Given the description of an element on the screen output the (x, y) to click on. 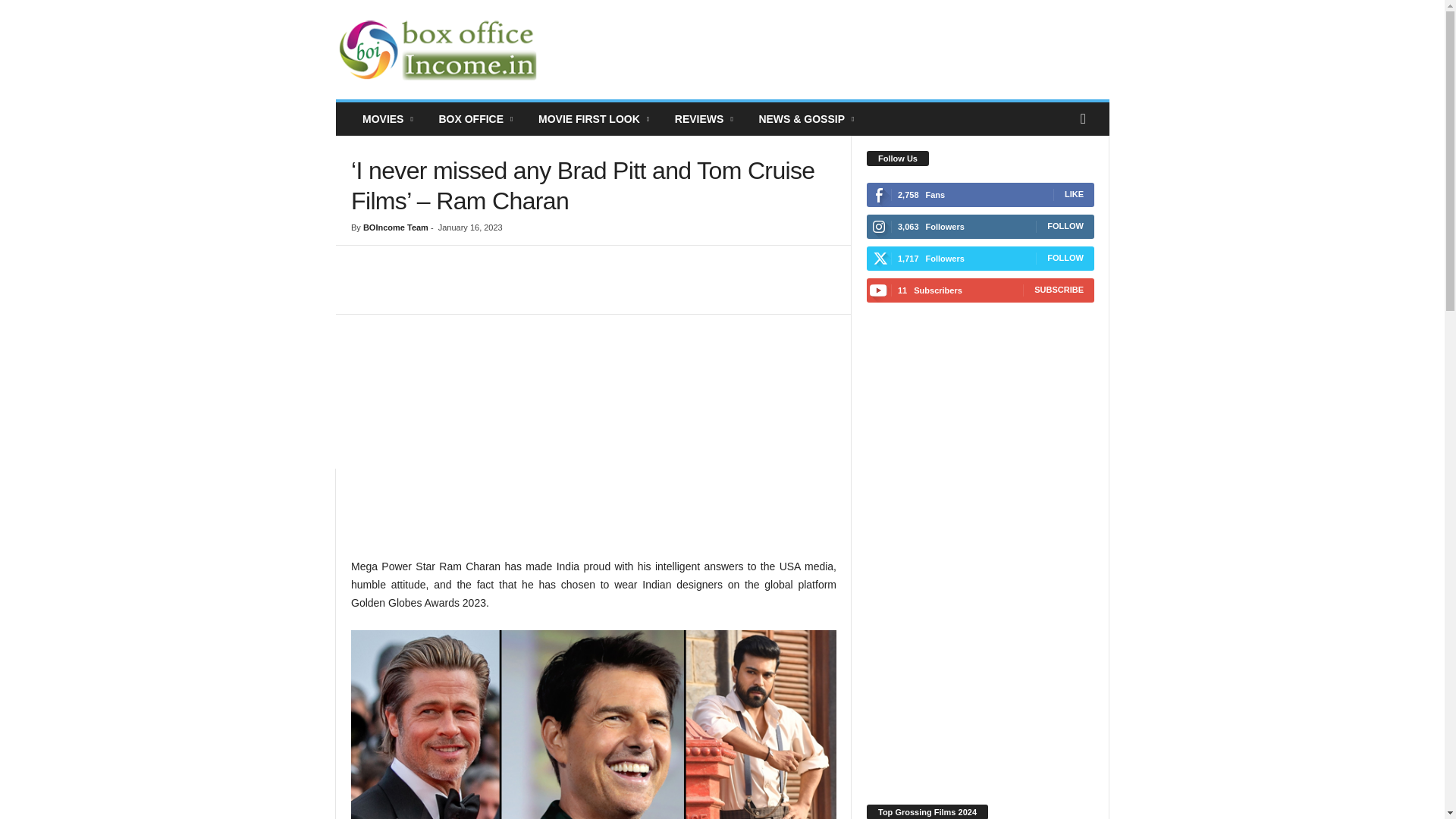
MOVIE FIRST LOOK (595, 118)
MOVIES (388, 118)
REVIEWS (705, 118)
Advertisement (592, 443)
BOX OFFICE (476, 118)
topFacebookLike (390, 261)
